Given the description of an element on the screen output the (x, y) to click on. 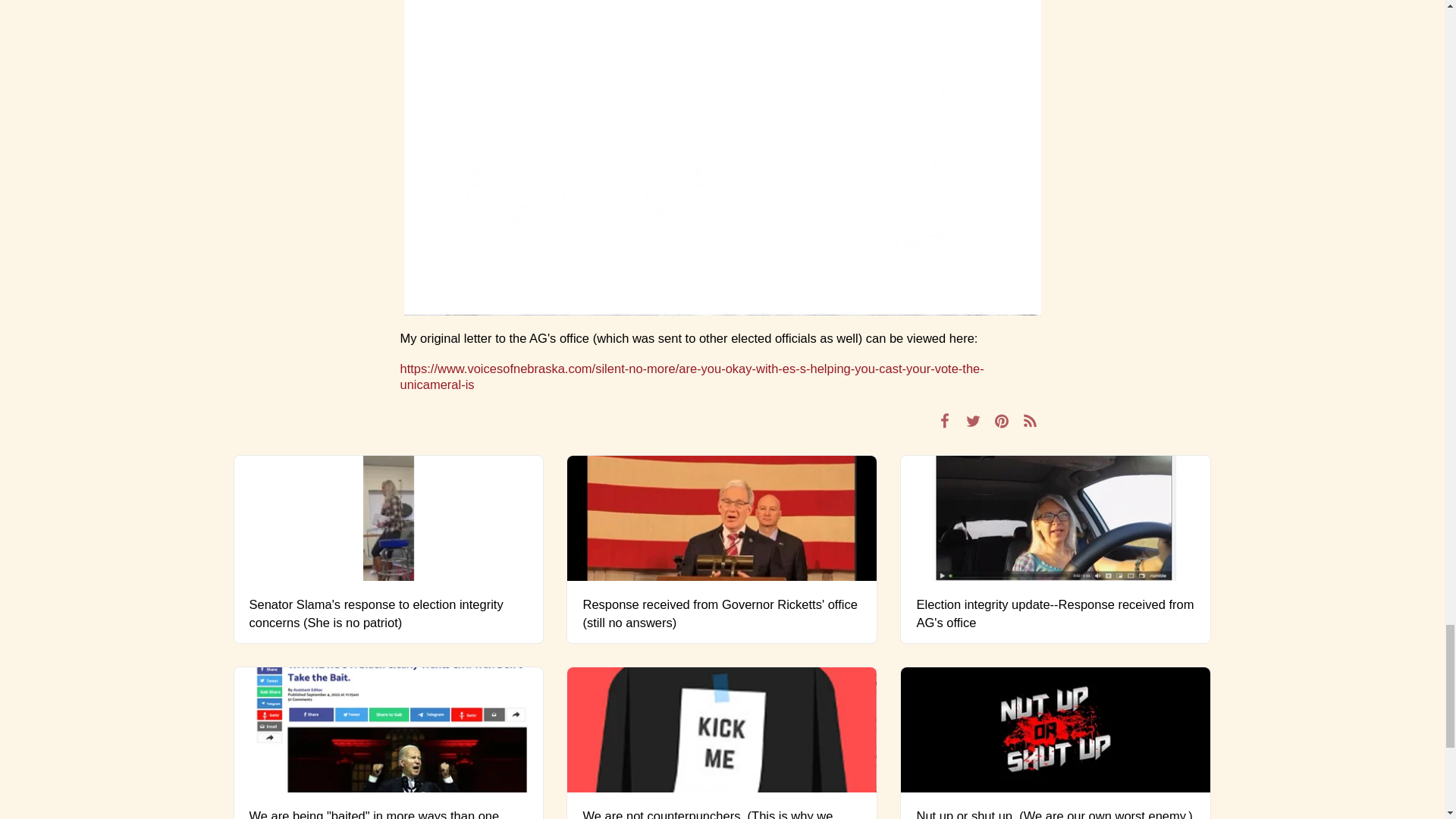
We are being "baited" in more ways than one (387, 813)
Share on Facebook (945, 420)
Tweet (973, 420)
RSS (1029, 420)
Pin it (1002, 420)
